Given the description of an element on the screen output the (x, y) to click on. 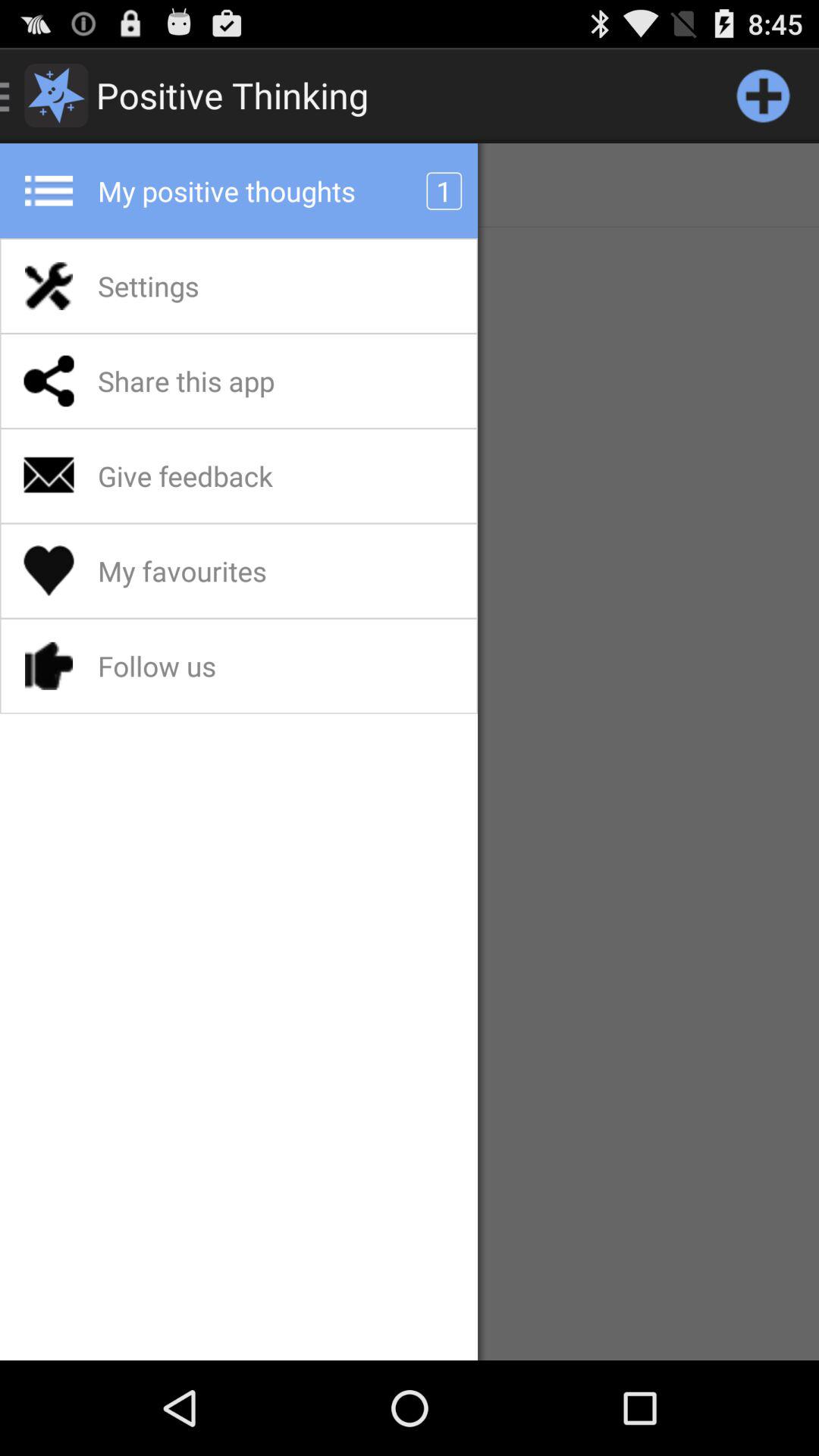
tap item above give feedback item (225, 380)
